Given the description of an element on the screen output the (x, y) to click on. 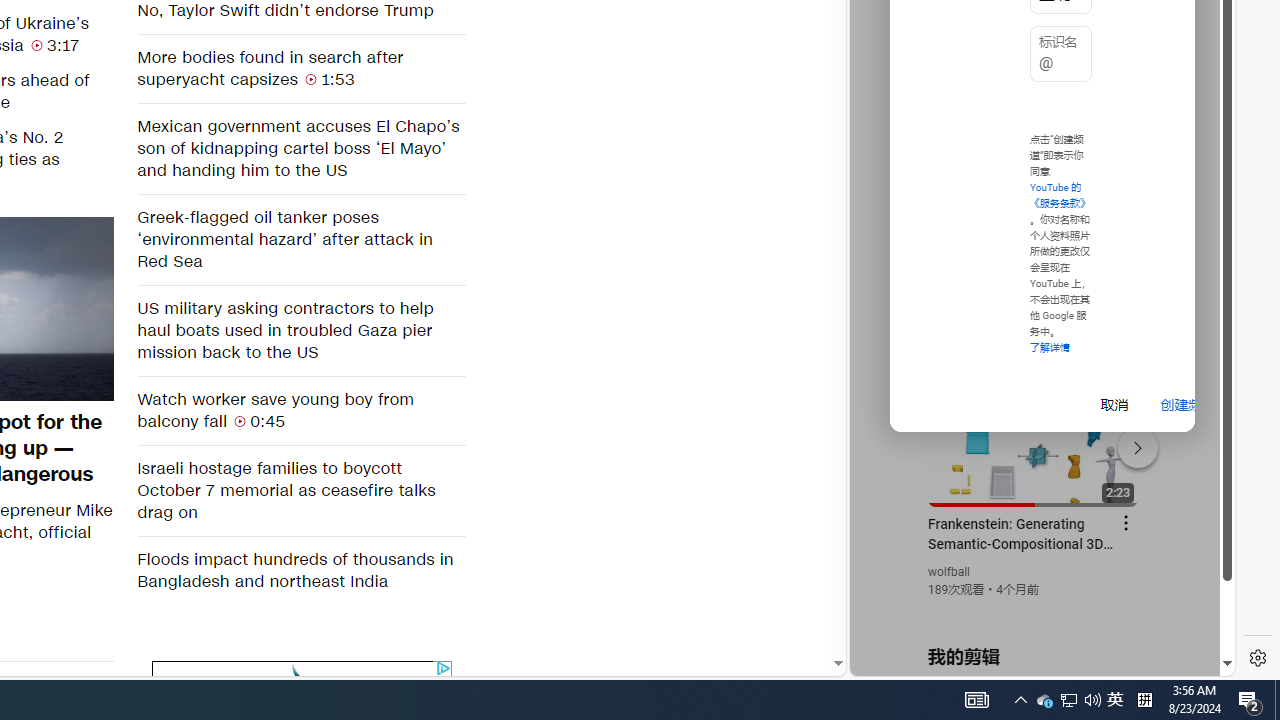
Notification Chevron (1020, 699)
AutomationID: 4105 (976, 699)
Tray Input Indicator - Chinese (Simplified, China) (1144, 699)
More bodies found in search after superyacht capsizes 1:53 (300, 68)
Q2790: 100% (1092, 699)
Class: dict_pnIcon rms_img (1028, 660)
Class: container__video-duration-icon (240, 420)
AutomationID: brandFlyLogo (302, 676)
